Given the description of an element on the screen output the (x, y) to click on. 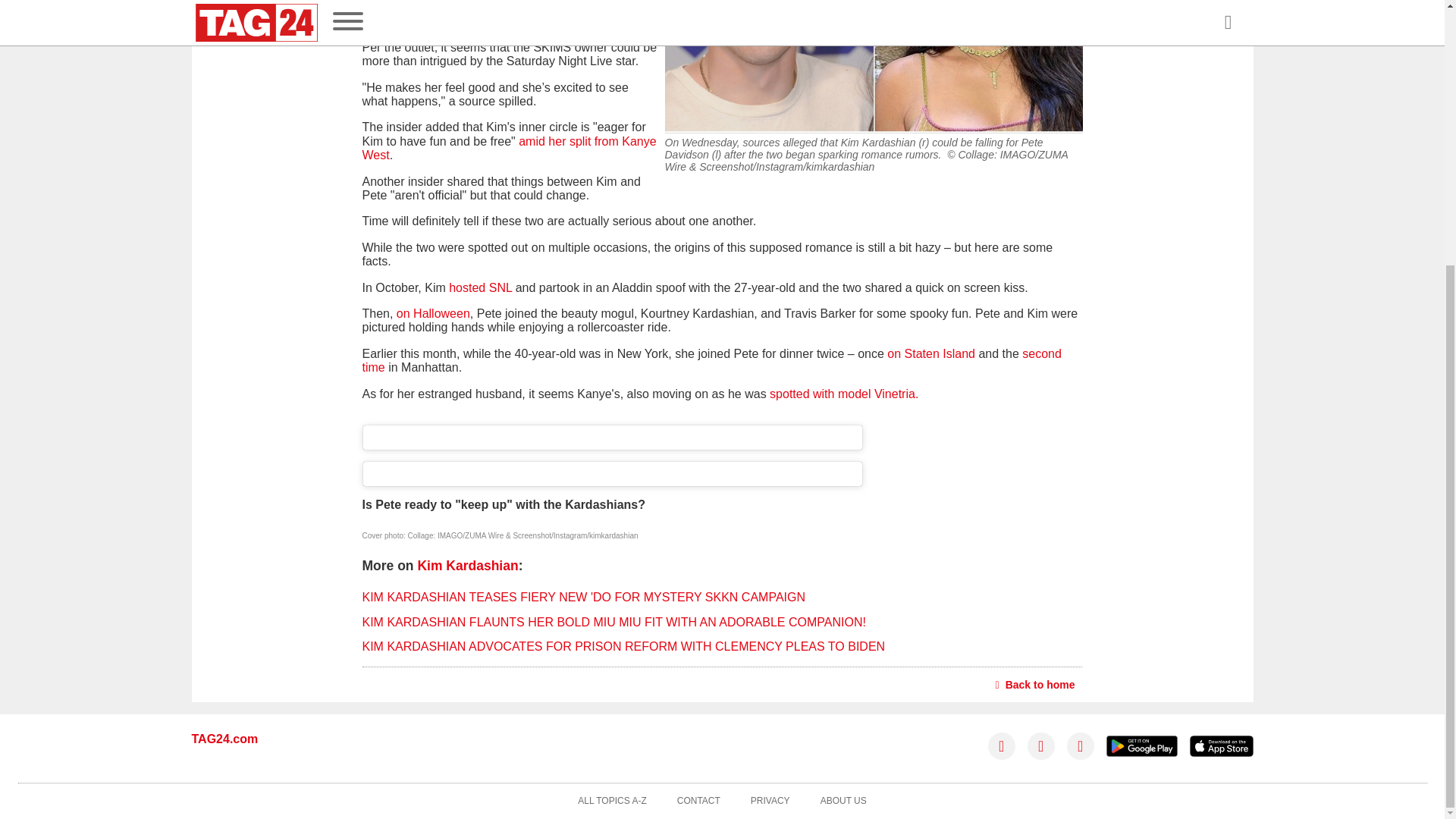
amid her split from Kanye West (509, 148)
Back to home (1035, 684)
ALL TOPICS A-Z (612, 801)
on Staten Island (930, 353)
Kim Kardashian (467, 565)
hosted SNL (480, 287)
spotted with model Vinetria. (844, 393)
